Given the description of an element on the screen output the (x, y) to click on. 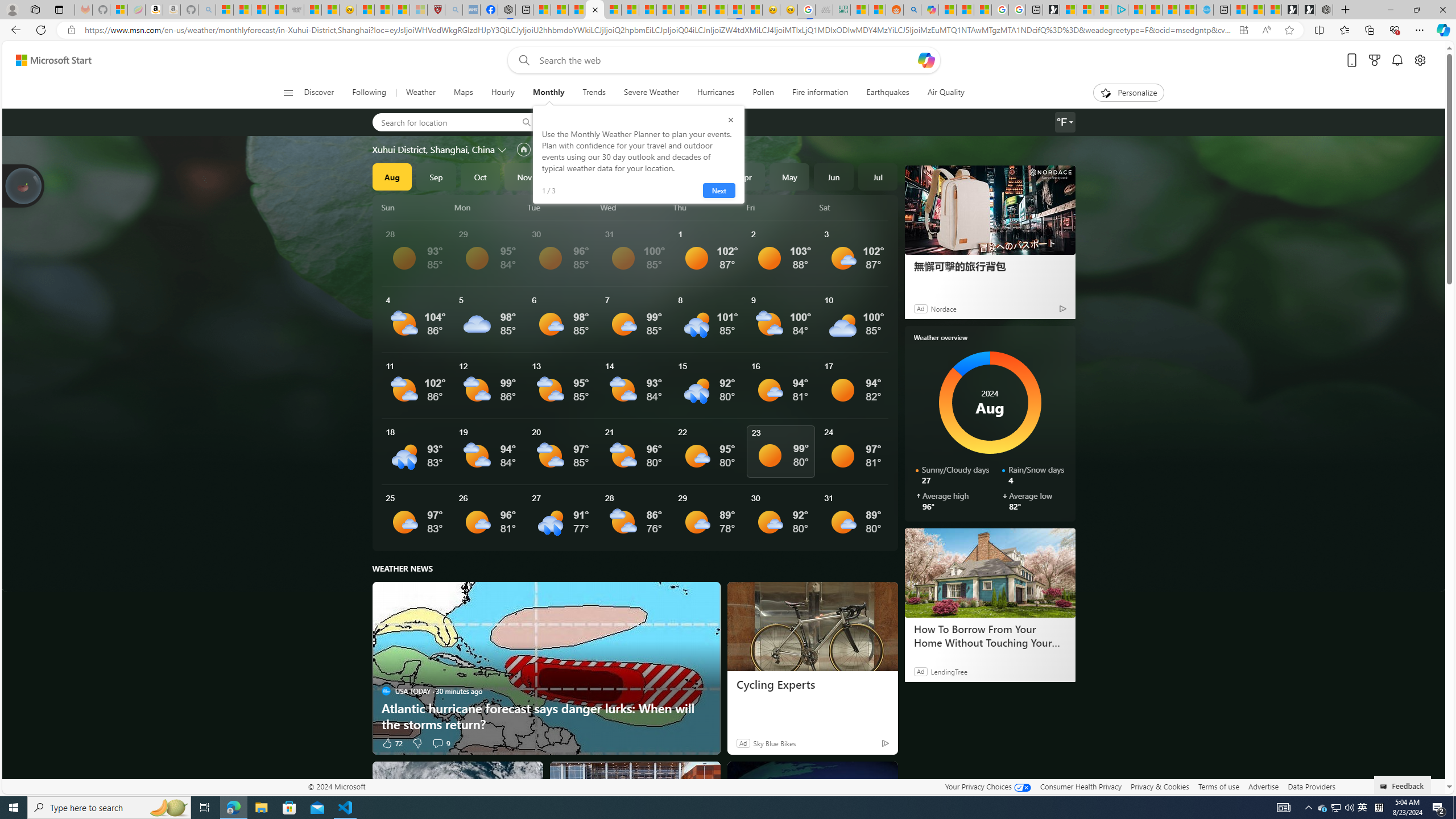
Privacy & Cookies (1160, 785)
Hourly (502, 92)
Join us in planting real trees to help our planet! (23, 185)
Utah sues federal government - Search (912, 9)
